Given the description of an element on the screen output the (x, y) to click on. 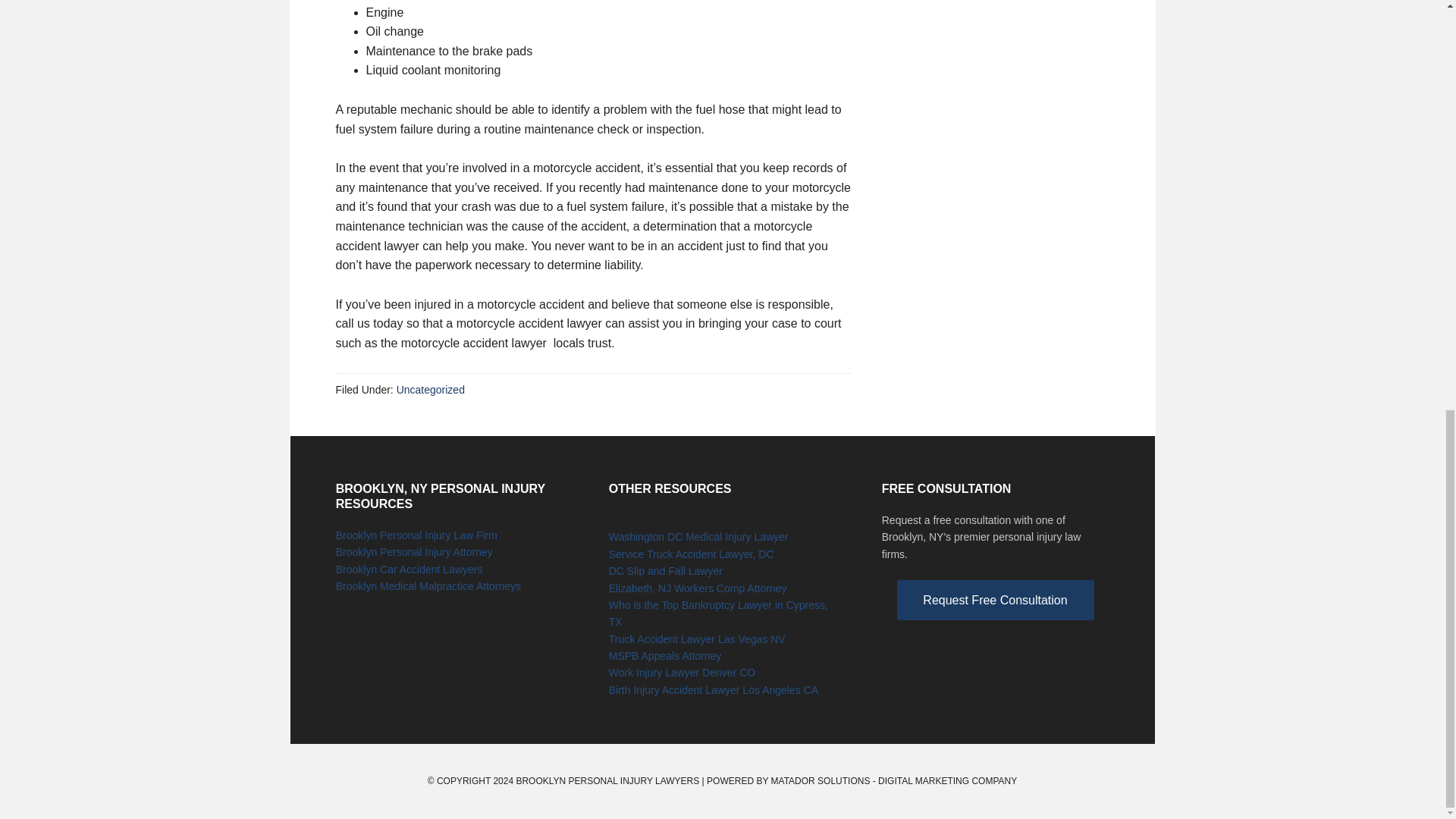
Who is the Top Bankruptcy Lawyer in Cypress, TX (718, 613)
Truck Accident Lawyer Las Vegas NV (697, 639)
Request Free Consultation (994, 599)
Elizabeth, NJ Workers Comp Attorney (697, 588)
Brooklyn Personal Injury Law Firm (416, 535)
DC Slip and Fall Lawyer (665, 571)
Uncategorized (430, 389)
MATADOR SOLUTIONS - DIGITAL MARKETING COMPANY (894, 780)
Birth Injury Accident Lawyer Los Angeles CA (713, 689)
Service Truck Accident Lawyer, DC (691, 553)
